Given the description of an element on the screen output the (x, y) to click on. 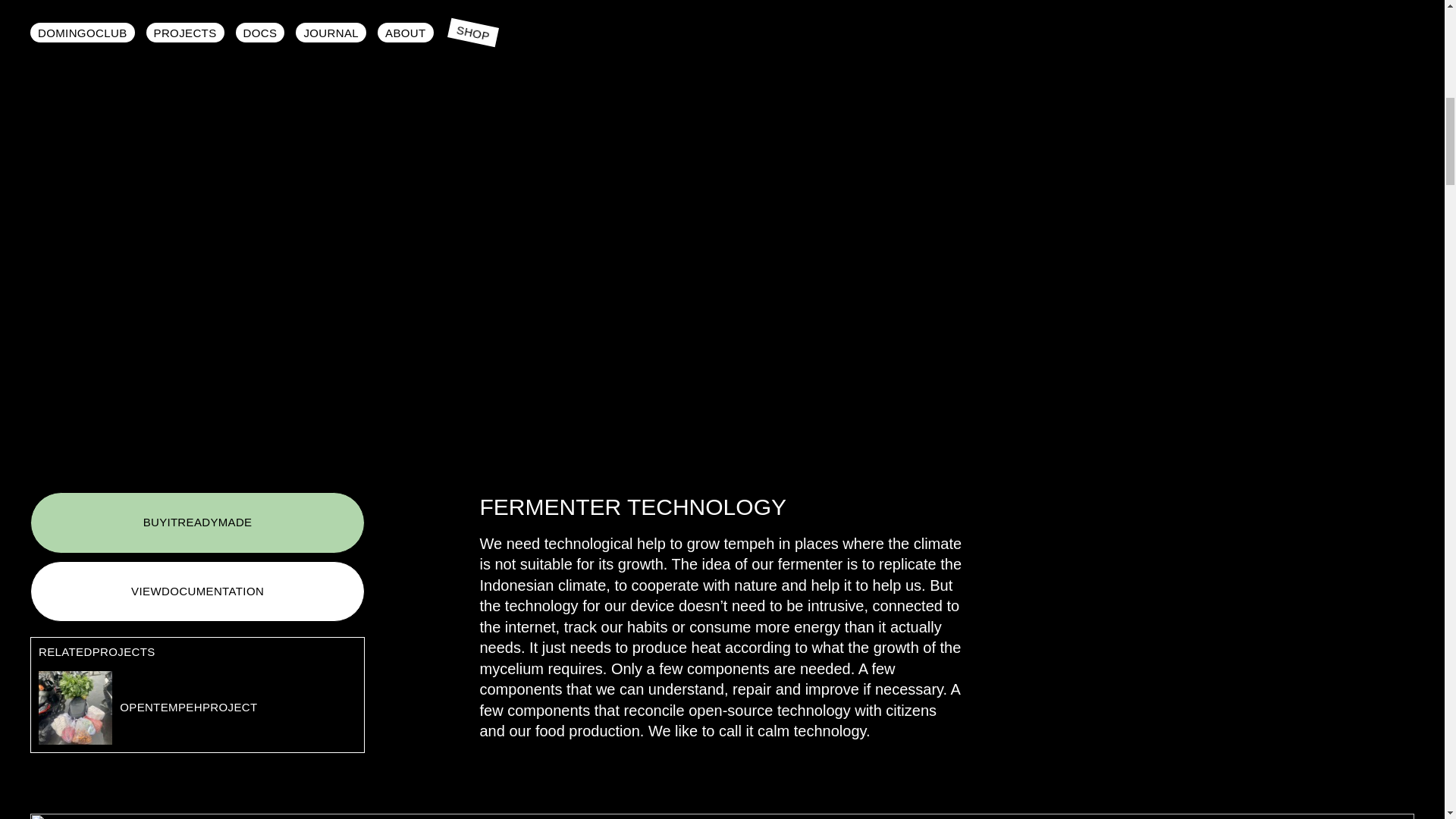
OPEN TEMPEH PROJECT (197, 707)
BUY IT READY MADE (197, 522)
VIEW DOCUMENTATION (197, 591)
